Given the description of an element on the screen output the (x, y) to click on. 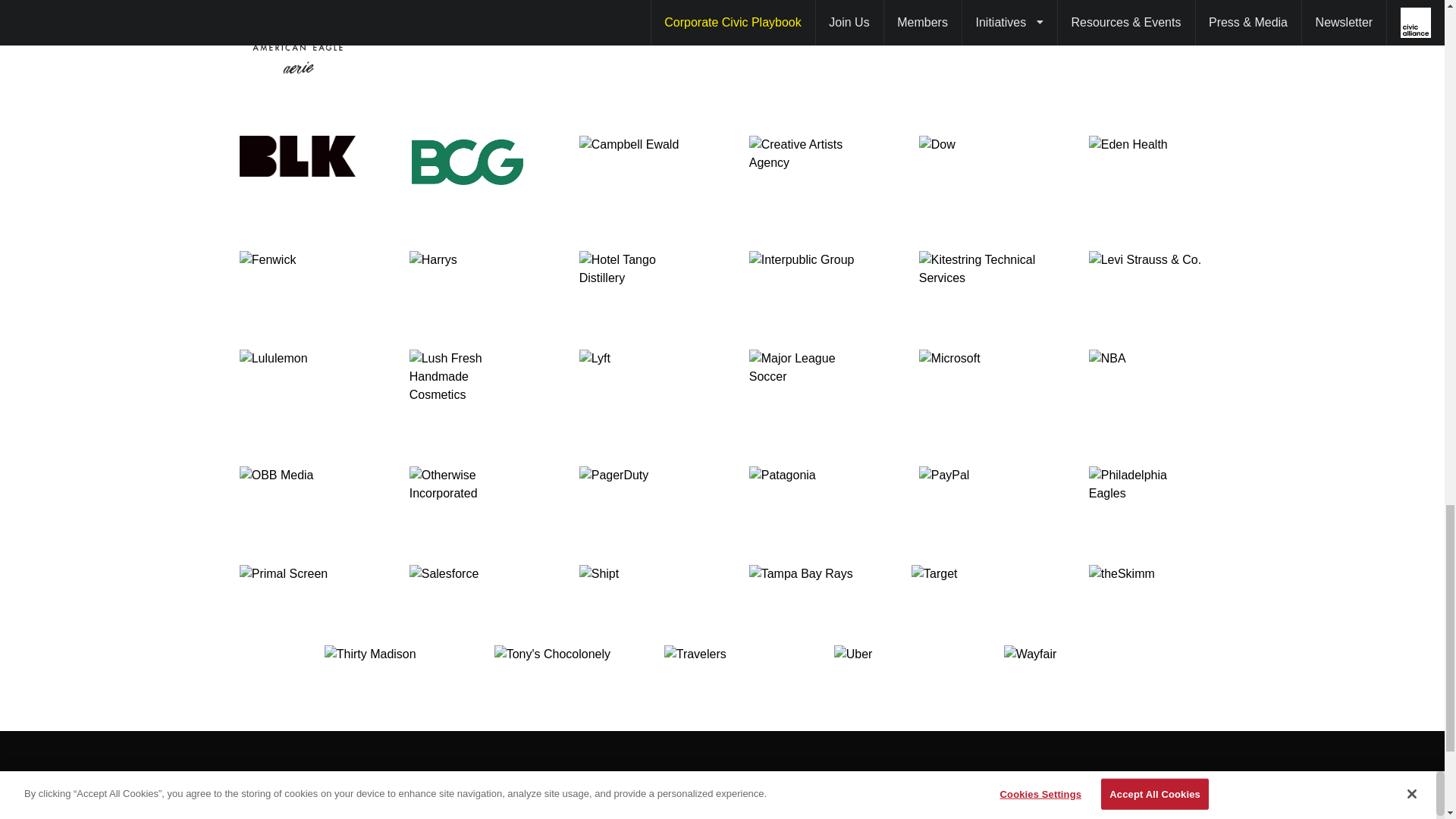
Harrys (466, 269)
AEO  (296, 52)
Hotel Tango Distillery (636, 269)
Beauty Counter (1146, 52)
Boston Consulting Group (466, 162)
Anonymous Content (636, 52)
Aledade (466, 52)
Dow (976, 162)
Eden Health (1146, 162)
Bearaby (976, 52)
